Given the description of an element on the screen output the (x, y) to click on. 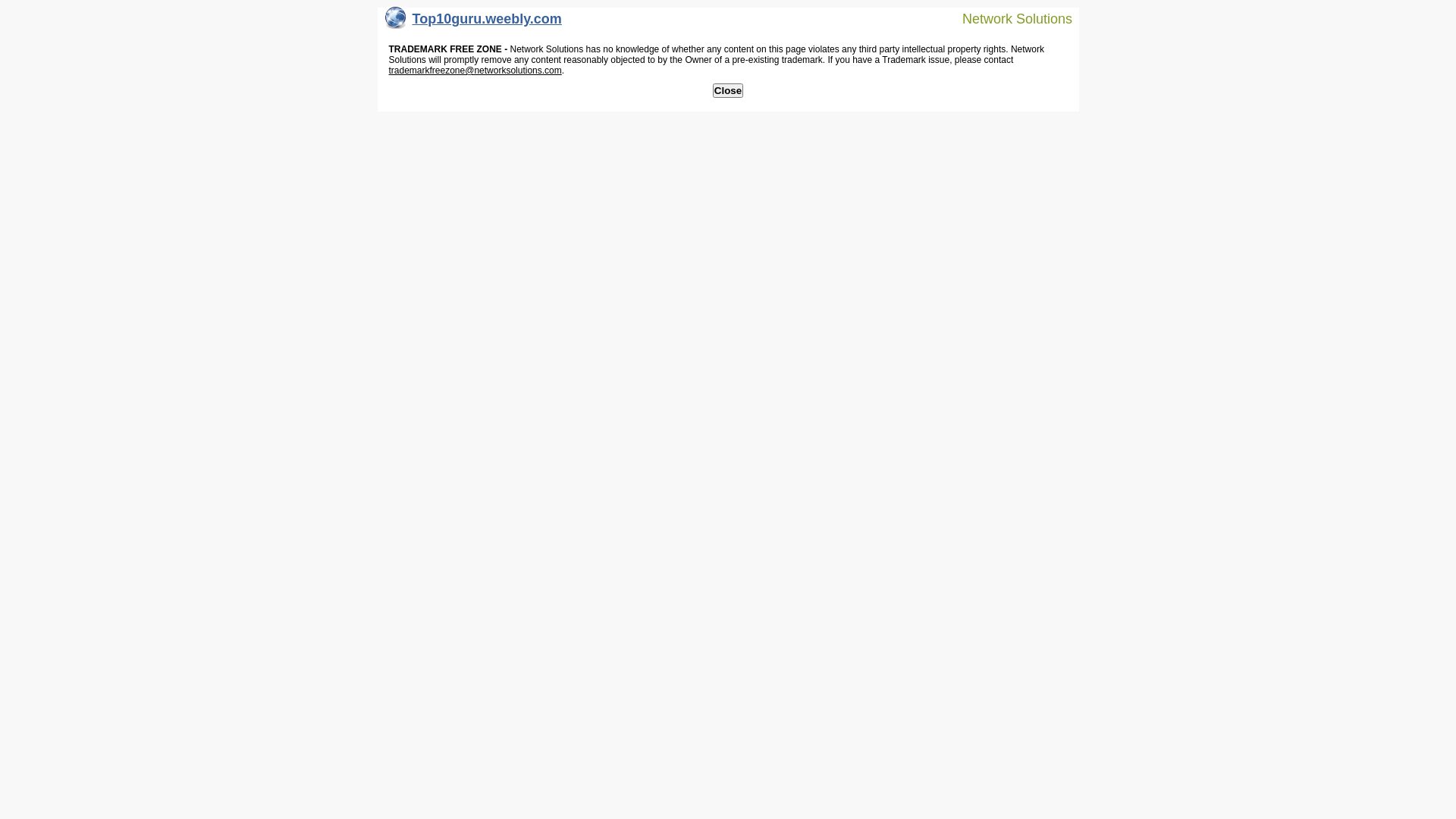
Network Solutions Element type: text (1007, 17)
Top10guru.weebly.com Element type: text (473, 21)
Close Element type: text (727, 90)
trademarkfreezone@networksolutions.com Element type: text (474, 70)
